Given the description of an element on the screen output the (x, y) to click on. 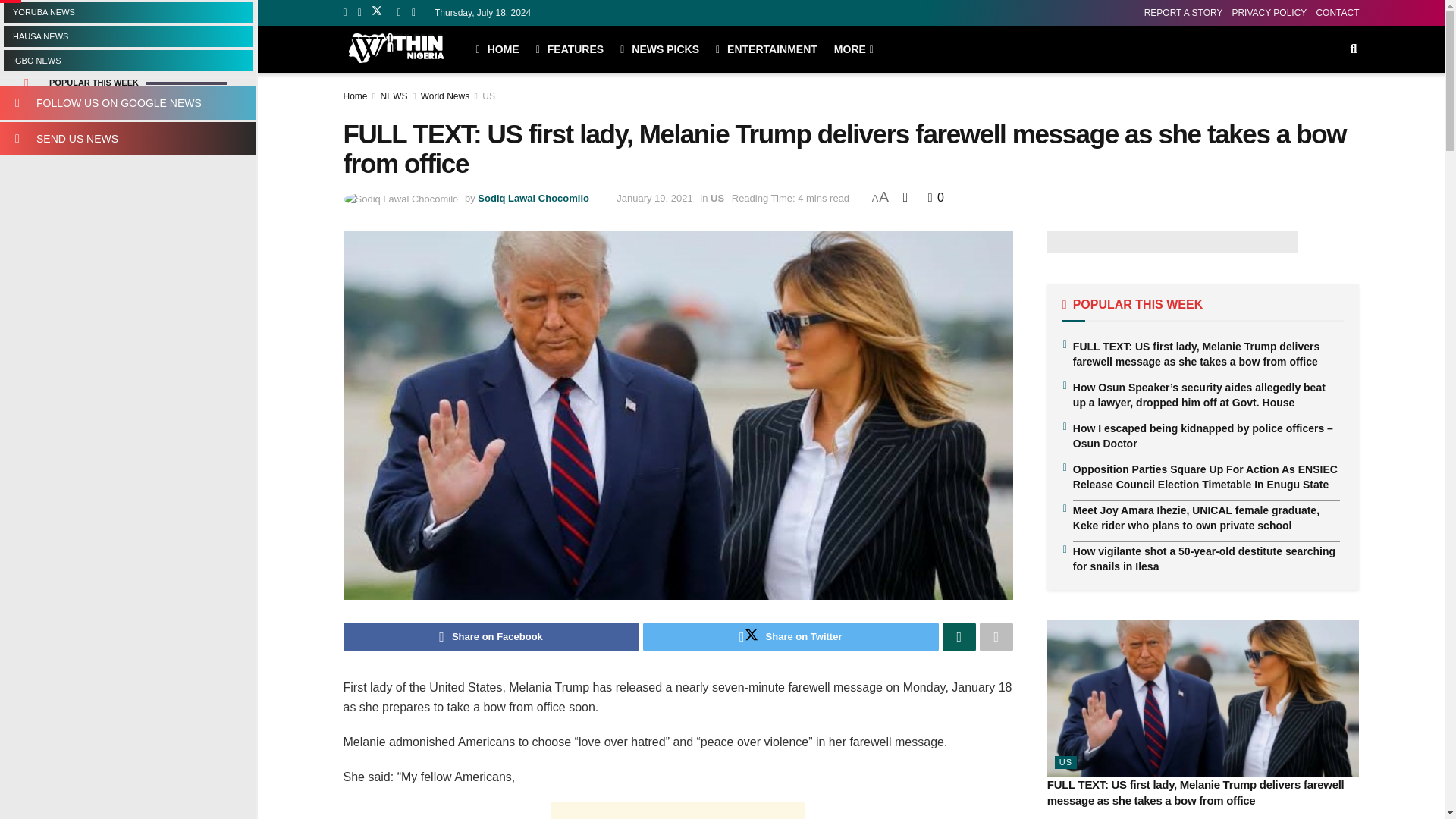
CONTACT (1337, 12)
HAUSA NEWS (127, 35)
YORUBA NEWS (127, 11)
FEATURES (569, 48)
ENTERTAINMENT (766, 48)
IGBO NEWS (127, 60)
Advertisement (677, 810)
WITHIN NIGERIA ON GOOGLE NEWS (128, 102)
SEND US NEWS (128, 138)
SEND NEWS TO WITHIN NIGERIA (128, 138)
REPORT A STORY (1183, 12)
YORUBA NEWS (127, 11)
HAUSA NEWS (127, 35)
PRIVACY POLICY (1268, 12)
FOLLOW US ON GOOGLE NEWS (128, 102)
